Given the description of an element on the screen output the (x, y) to click on. 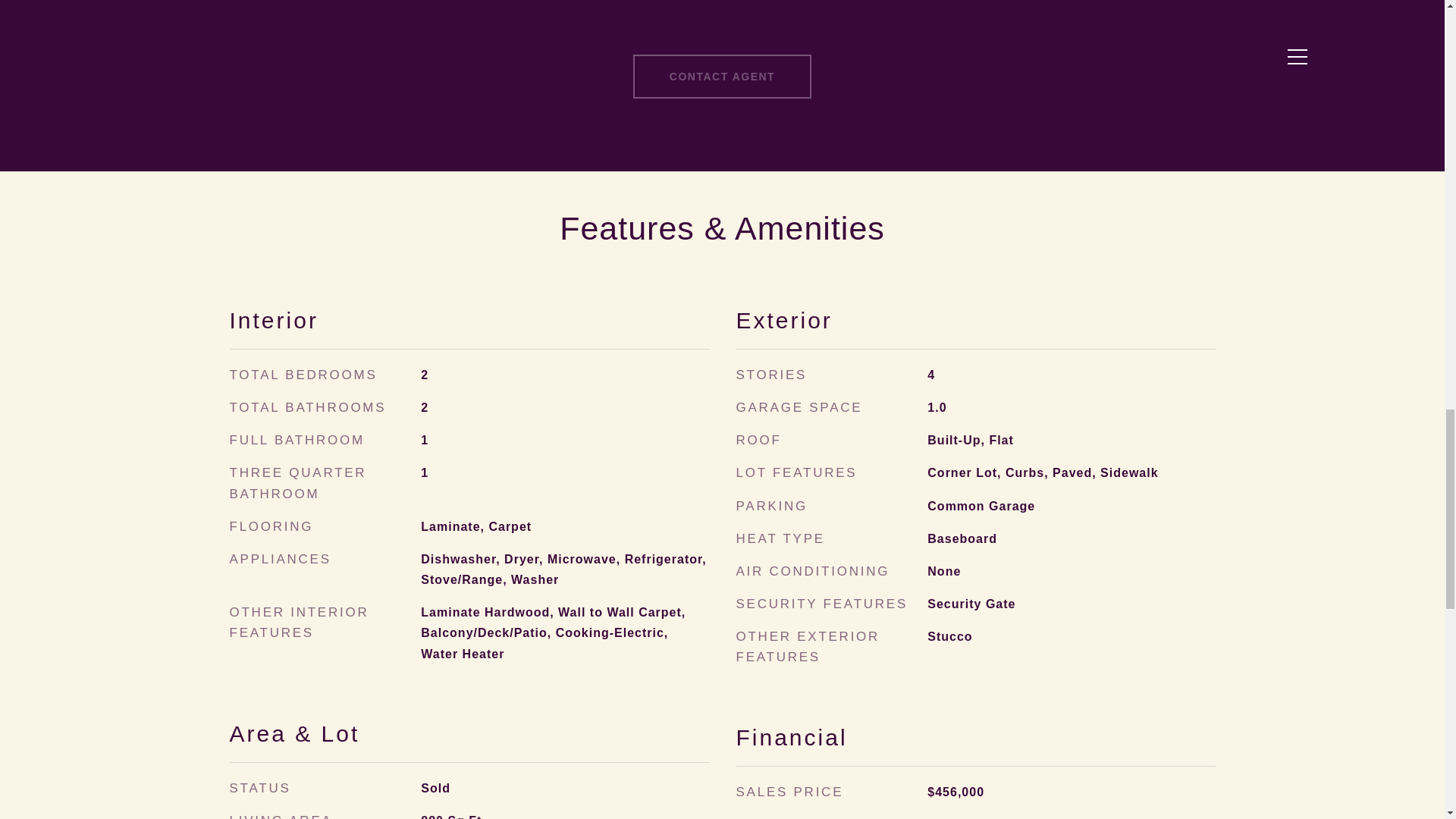
CONTACT AGENT (721, 76)
